Given the description of an element on the screen output the (x, y) to click on. 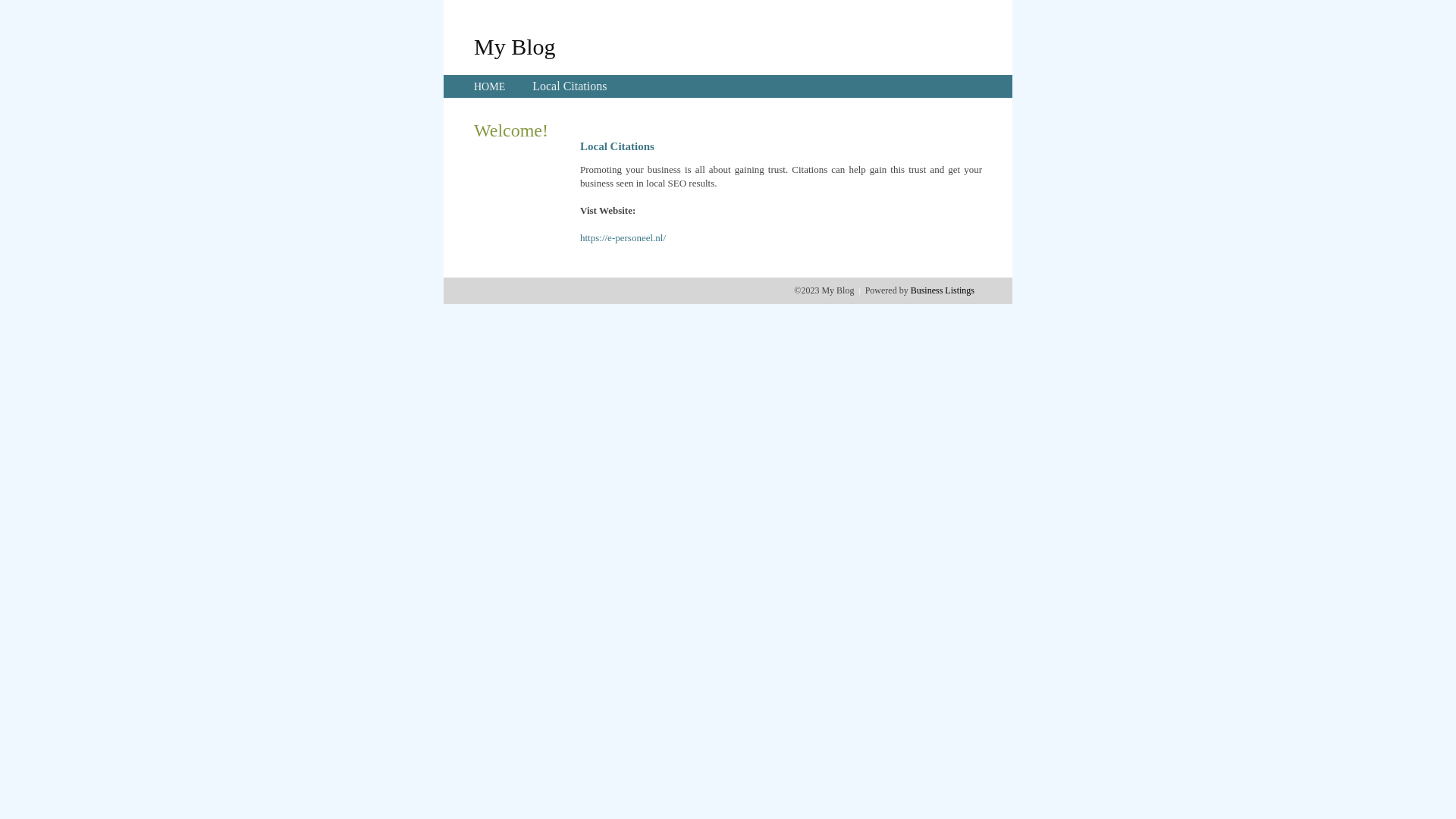
https://e-personeel.nl/ Element type: text (622, 237)
Local Citations Element type: text (569, 85)
HOME Element type: text (489, 86)
My Blog Element type: text (514, 46)
Business Listings Element type: text (942, 290)
